Given the description of an element on the screen output the (x, y) to click on. 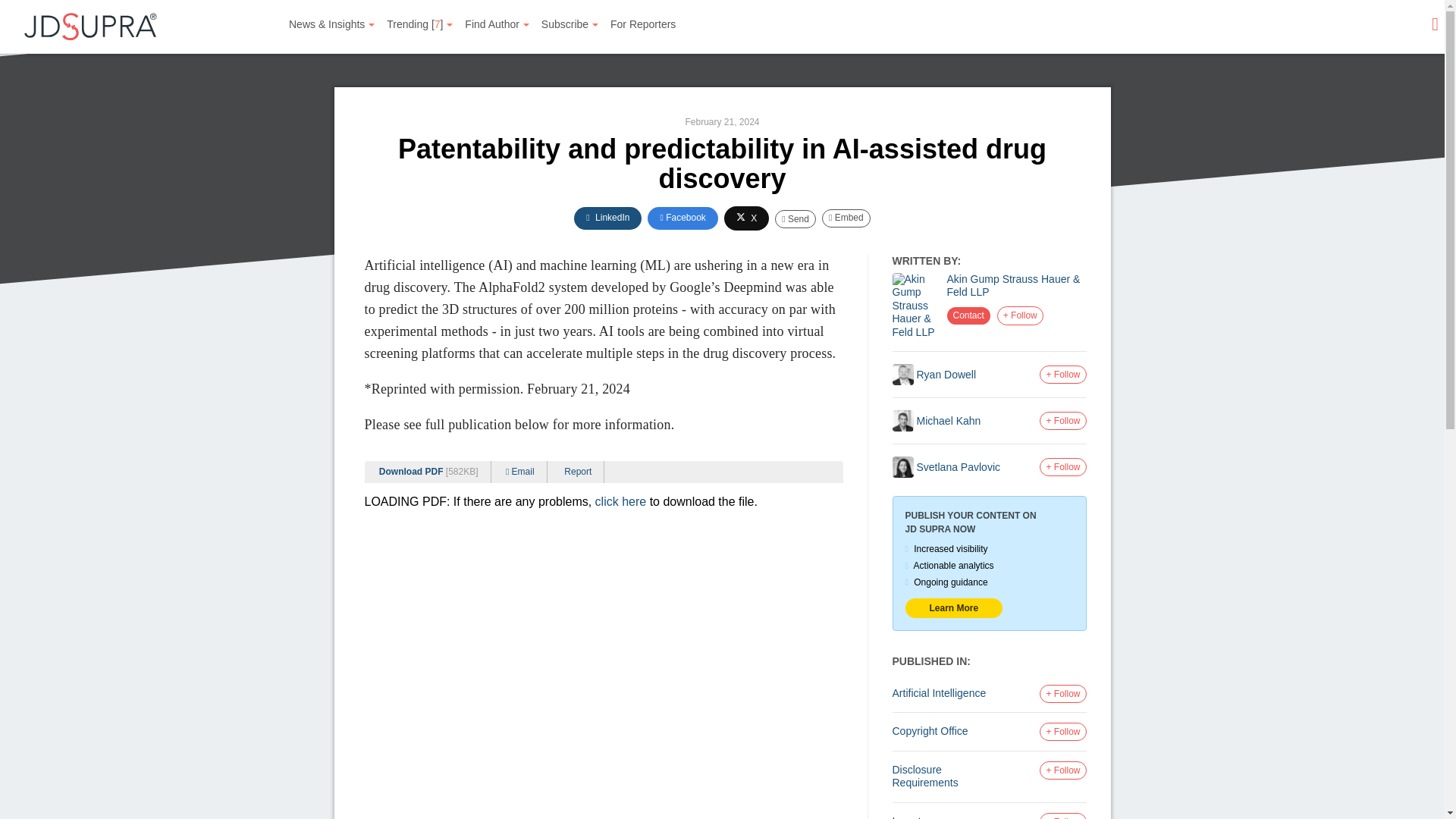
Find Author (496, 23)
